Given the description of an element on the screen output the (x, y) to click on. 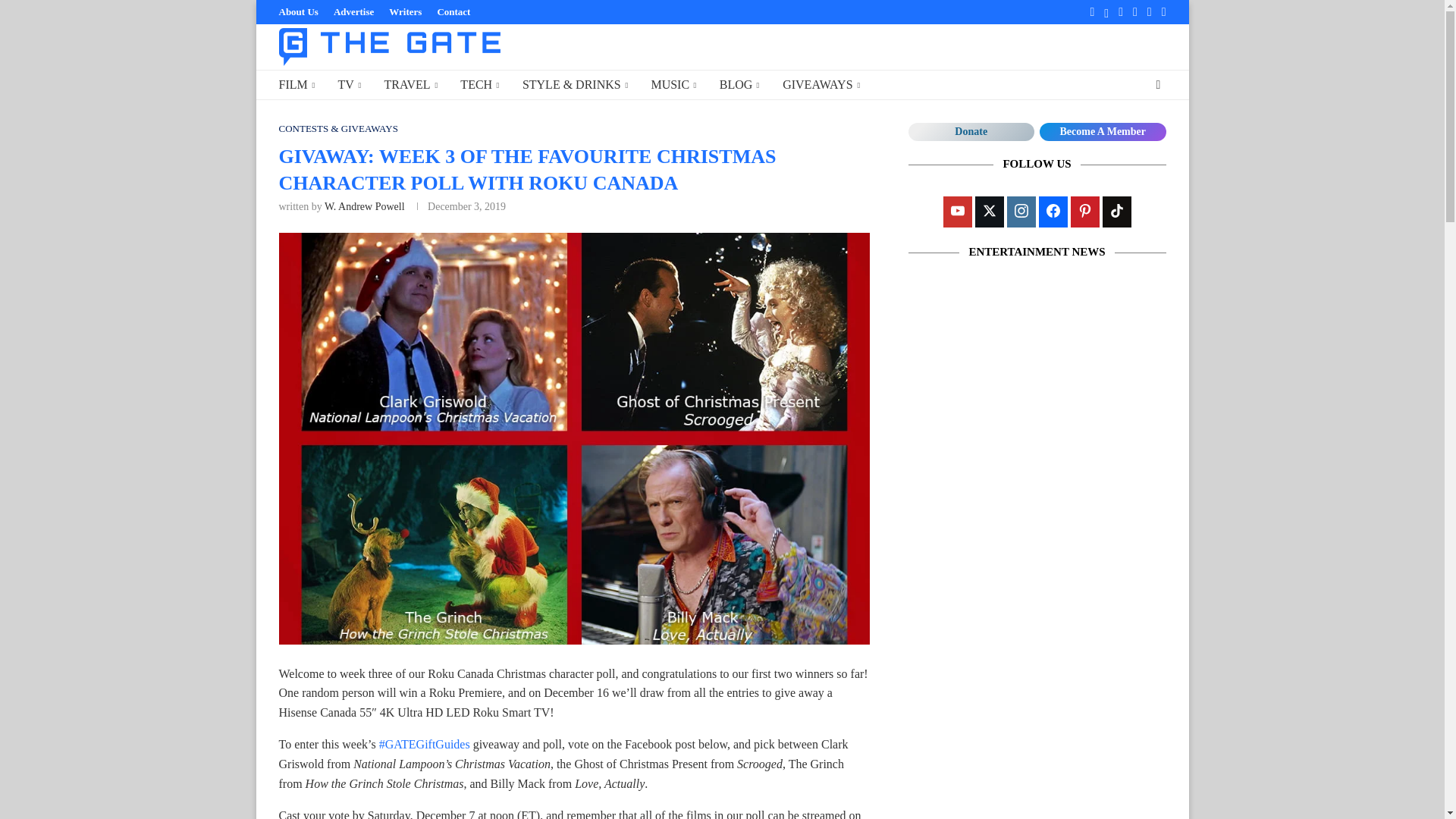
FILM (297, 84)
Advertise (353, 12)
GIVEAWAYS (821, 84)
TV (349, 84)
TRAVEL (411, 84)
Contact (453, 12)
BLOG (739, 84)
About Us (298, 12)
MUSIC (672, 84)
Writers (405, 12)
W. Andrew Powell (364, 206)
TECH (479, 84)
